Given the description of an element on the screen output the (x, y) to click on. 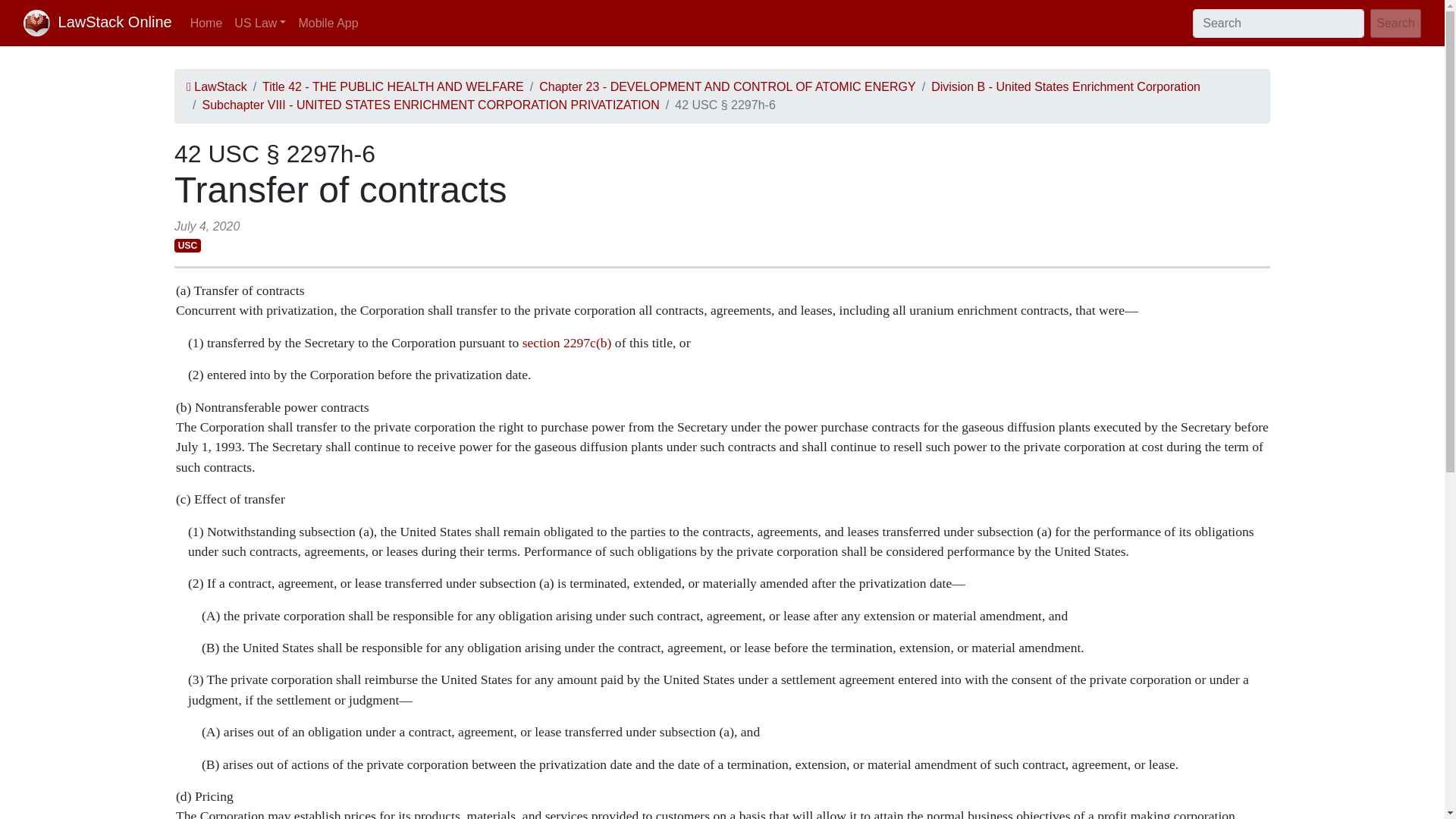
Search (1395, 23)
Home (206, 22)
Division B - United States Enrichment Corporation (1065, 86)
Title 42 - THE PUBLIC HEALTH AND WELFARE (393, 86)
US Law (260, 22)
Search (1395, 23)
Mobile App (328, 22)
Chapter 23 - DEVELOPMENT AND CONTROL OF ATOMIC ENERGY (726, 86)
LawStack Online (97, 22)
